Given the description of an element on the screen output the (x, y) to click on. 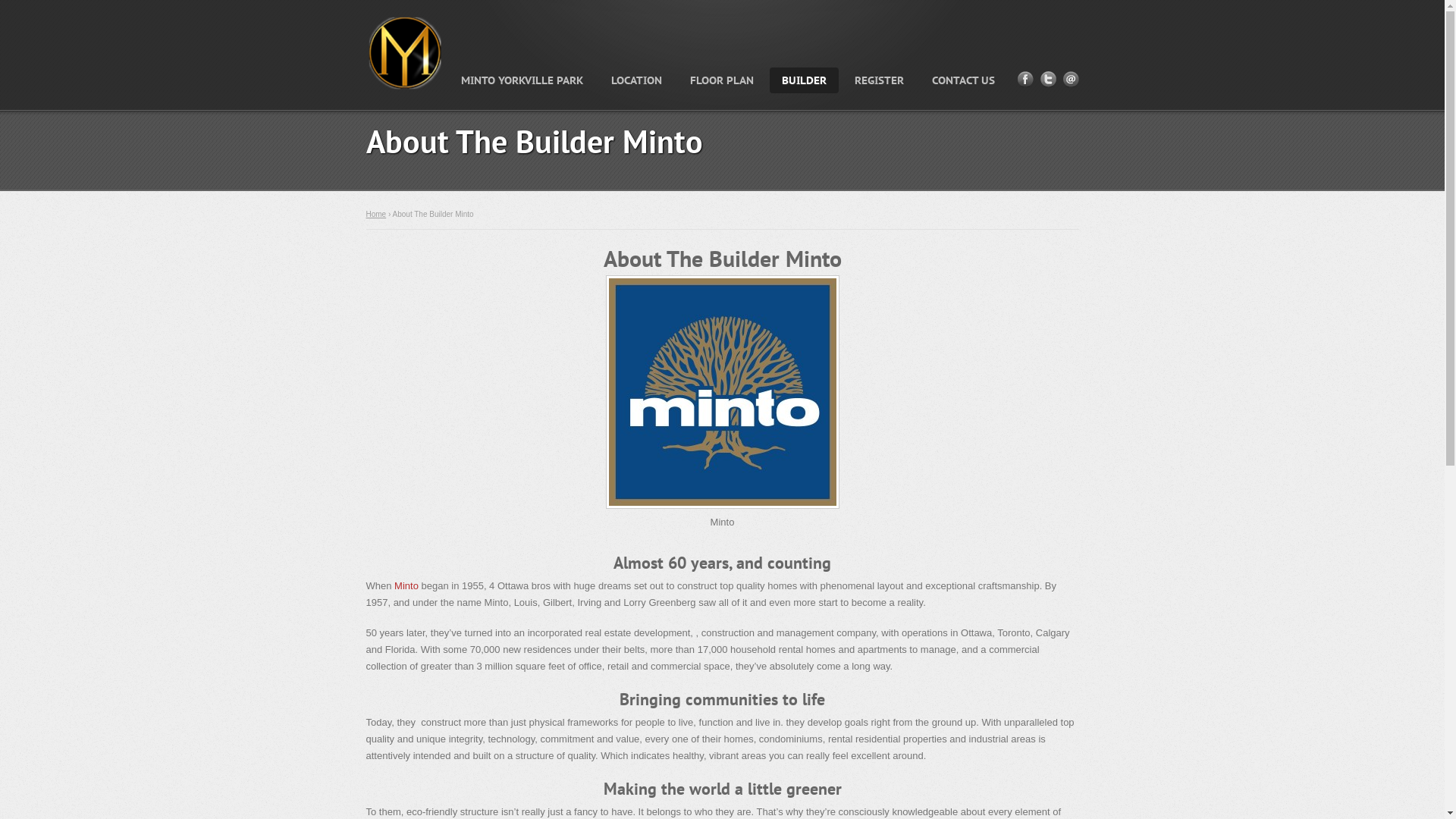
LOCATION Element type: text (636, 80)
Minto Yorkville Park Condos By Minto Element type: text (405, 54)
CONTACT US Element type: text (962, 80)
E-MAIL ICON Element type: text (1071, 79)
88 Cumberland Condos developer minto Element type: hover (721, 505)
BUILDER Element type: text (802, 80)
FACEBOOK ICON Element type: text (1025, 79)
Minto Element type: text (407, 585)
TWITTER ICON Element type: text (1048, 79)
FLOOR PLAN Element type: text (721, 80)
REGISTER Element type: text (878, 80)
Home Element type: text (375, 214)
MINTO YORKVILLE PARK Element type: text (521, 80)
